Given the description of an element on the screen output the (x, y) to click on. 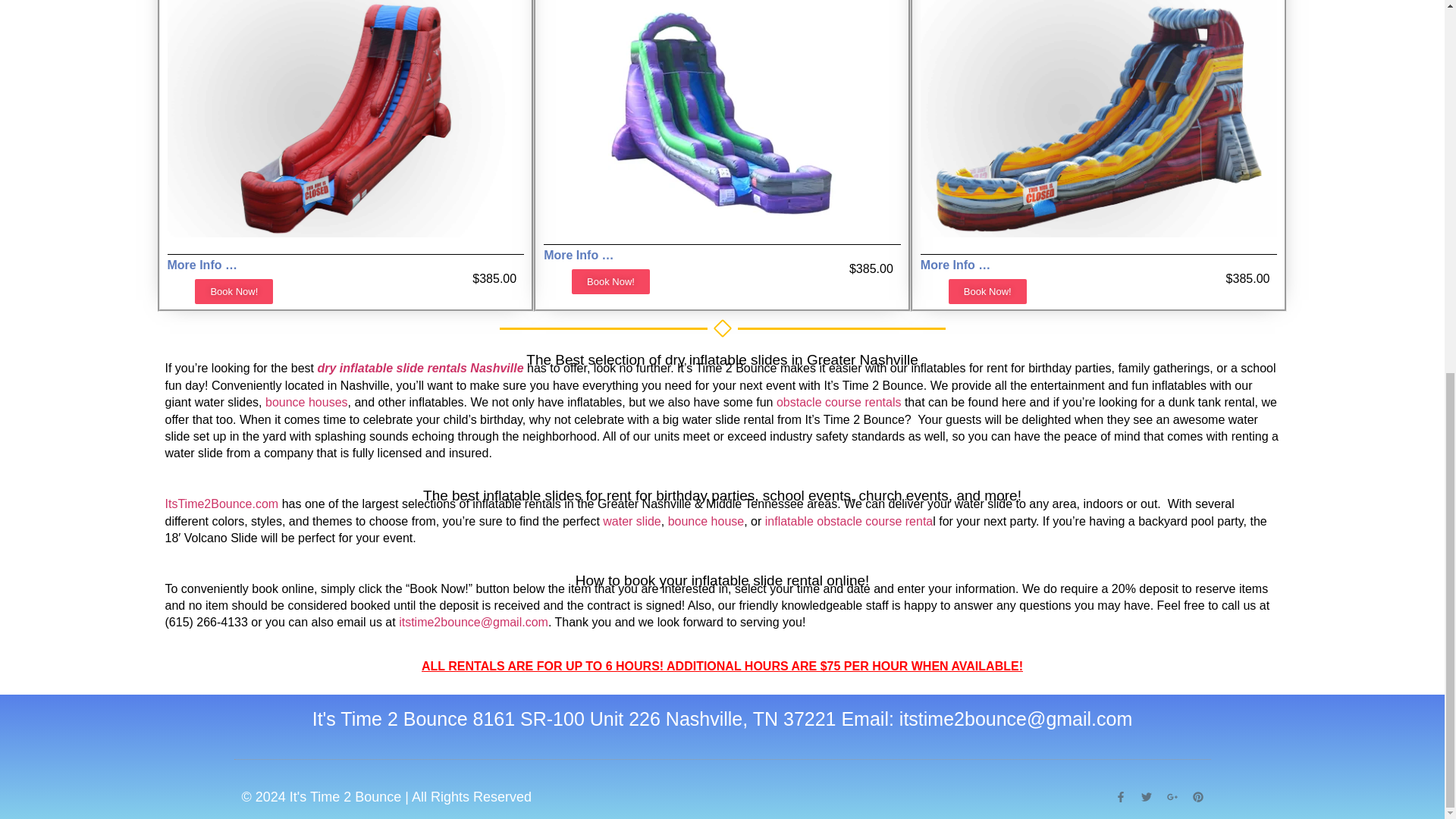
obstacle course rentals (838, 401)
inflatable obstacle course renta (849, 521)
Book Now! (610, 281)
Book Now! (987, 291)
water slide (631, 521)
dry inflatable slide rentals Nashville (419, 367)
bounce houses (305, 401)
bounce house (706, 521)
ItsTime2Bounce.com (222, 503)
Book Now! (234, 291)
